Given the description of an element on the screen output the (x, y) to click on. 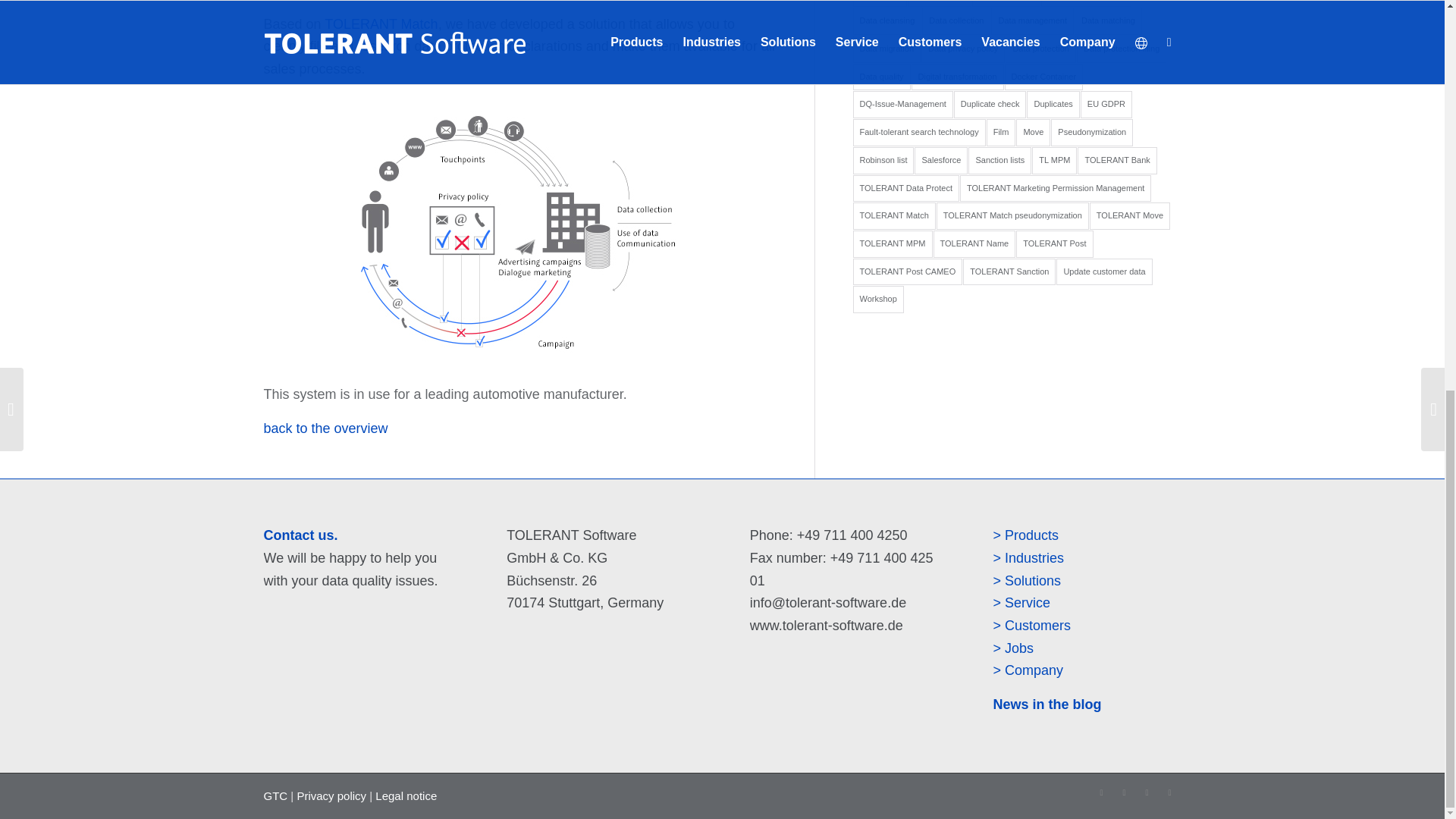
Facebook (1169, 792)
Instagram (1146, 792)
LinkedIn (1124, 792)
Xing (1101, 792)
